Given the description of an element on the screen output the (x, y) to click on. 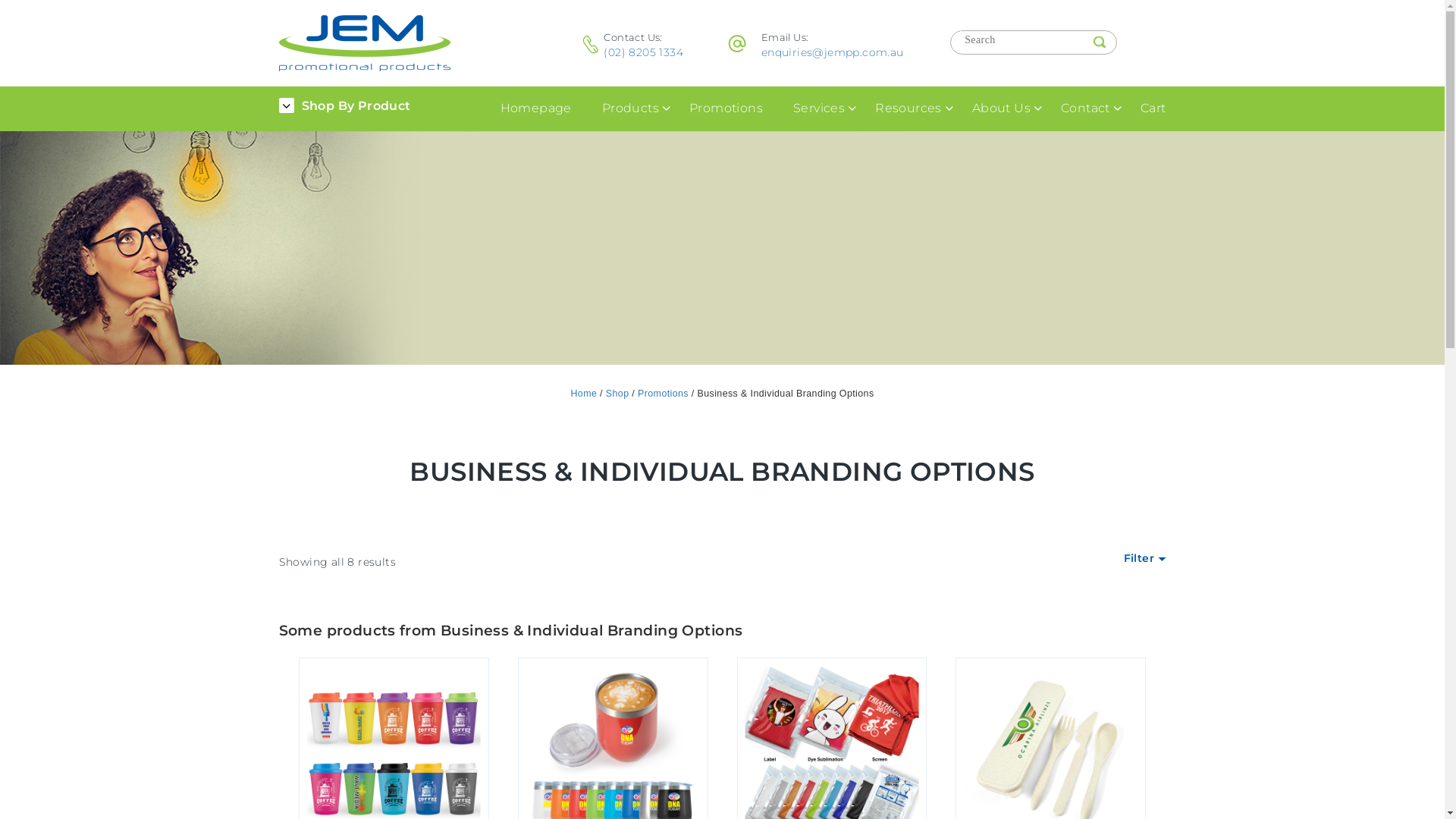
Aroma Coffee Cup / Comfort Lid Element type: hover (364, 43)
Home Element type: text (583, 393)
Search Element type: text (1099, 41)
Promotions Element type: text (725, 108)
Cart Element type: text (1153, 108)
enquiries@jempp.com.au Element type: text (832, 52)
Promotions Element type: text (662, 393)
Shop By Product Element type: text (345, 105)
Services Element type: text (818, 108)
Homepage Element type: text (535, 108)
Products Element type: text (630, 108)
(02) 8205 1334 Element type: text (643, 52)
Contact Element type: text (1085, 108)
Shop Element type: text (617, 393)
About Us Element type: text (1001, 108)
Resources Element type: text (908, 108)
